Given the description of an element on the screen output the (x, y) to click on. 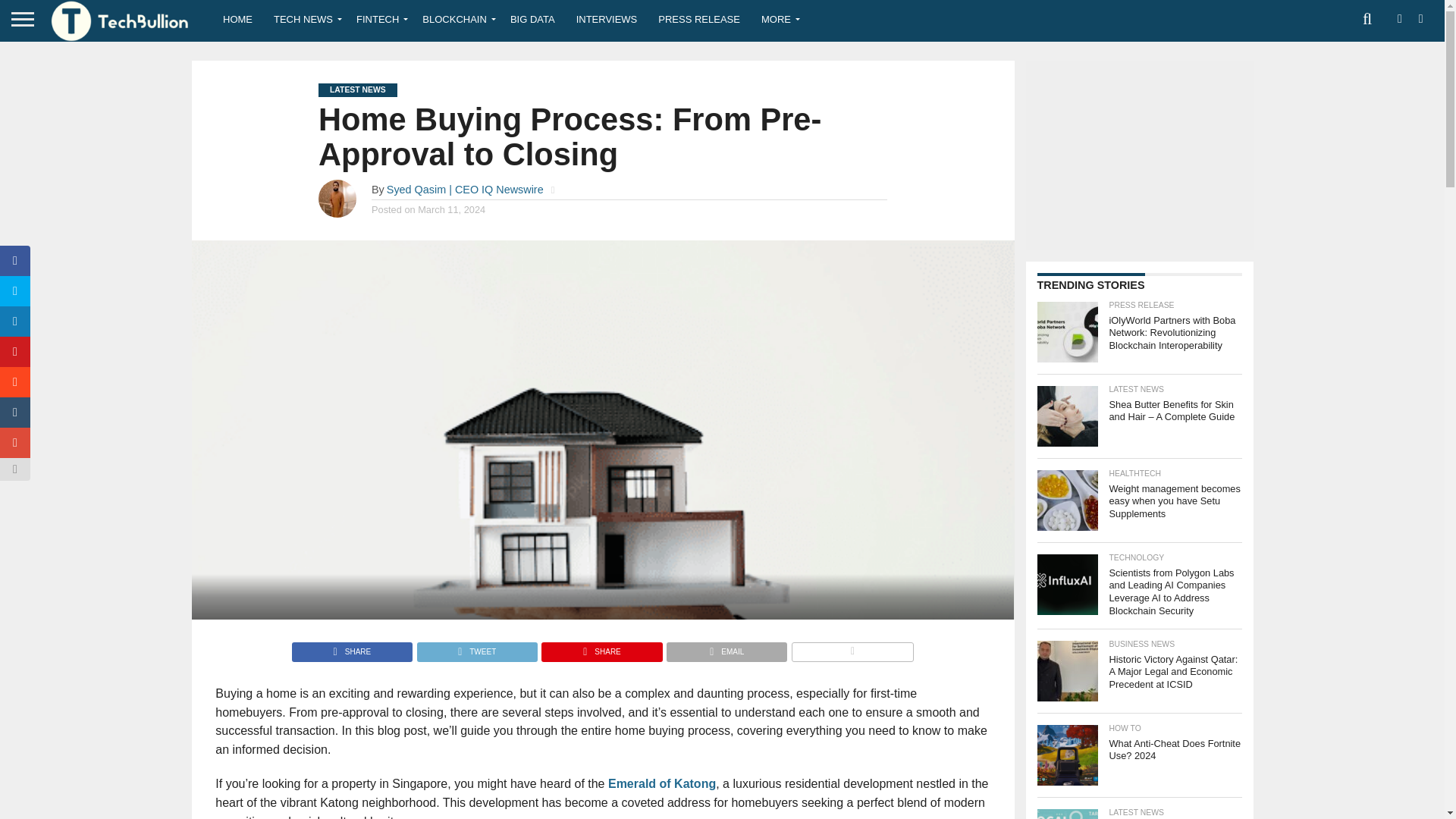
Pin This Post (601, 647)
Share on Facebook (352, 647)
Tweet This Post (476, 647)
